Given the description of an element on the screen output the (x, y) to click on. 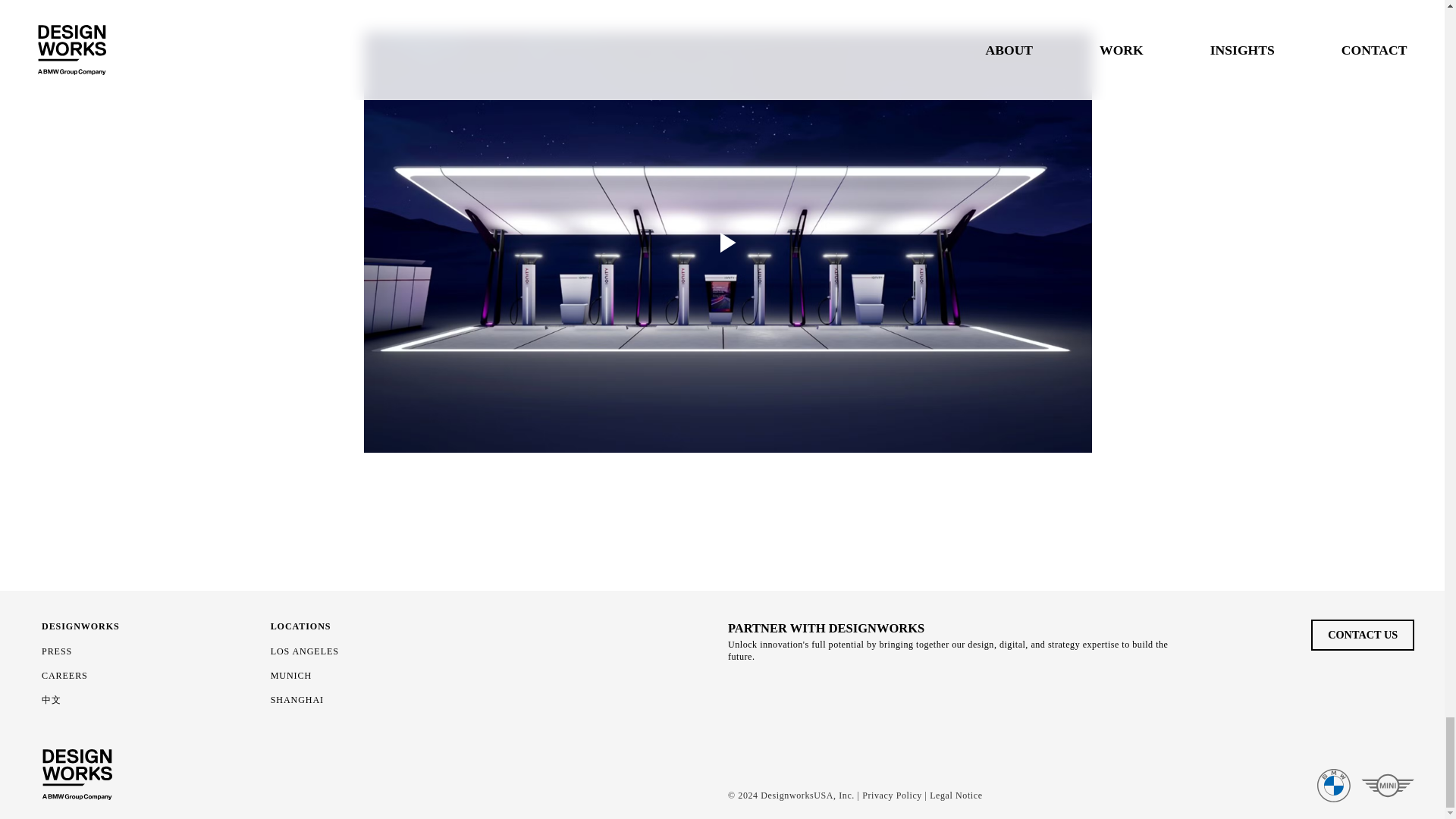
SHANGHAI (296, 699)
DESIGNWORKS (80, 625)
LOCATIONS (300, 625)
CONTACT US (1362, 634)
PRESS (56, 651)
CAREERS (64, 675)
Privacy Policy (891, 795)
Legal Notice (956, 795)
LOS ANGELES (304, 651)
MUNICH (290, 675)
